Given the description of an element on the screen output the (x, y) to click on. 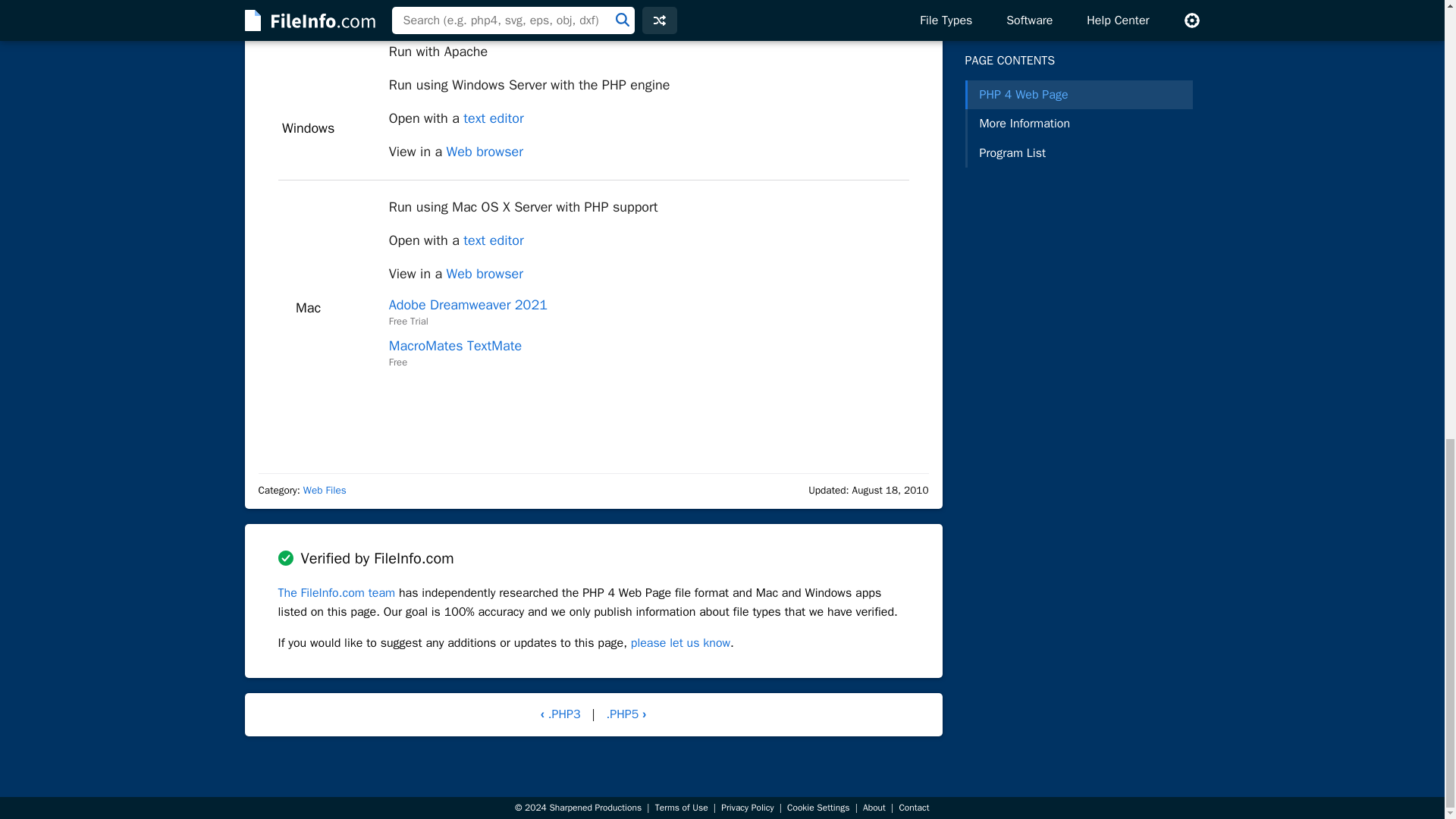
text editor (492, 117)
Web Files (324, 490)
The FileInfo.com team (336, 592)
MacroMates TextMate (454, 345)
Sort (865, 9)
Web browser (484, 273)
Adobe Dreamweaver 2021 (467, 304)
text editor (492, 239)
Web browser (484, 151)
please let us know (680, 642)
